Given the description of an element on the screen output the (x, y) to click on. 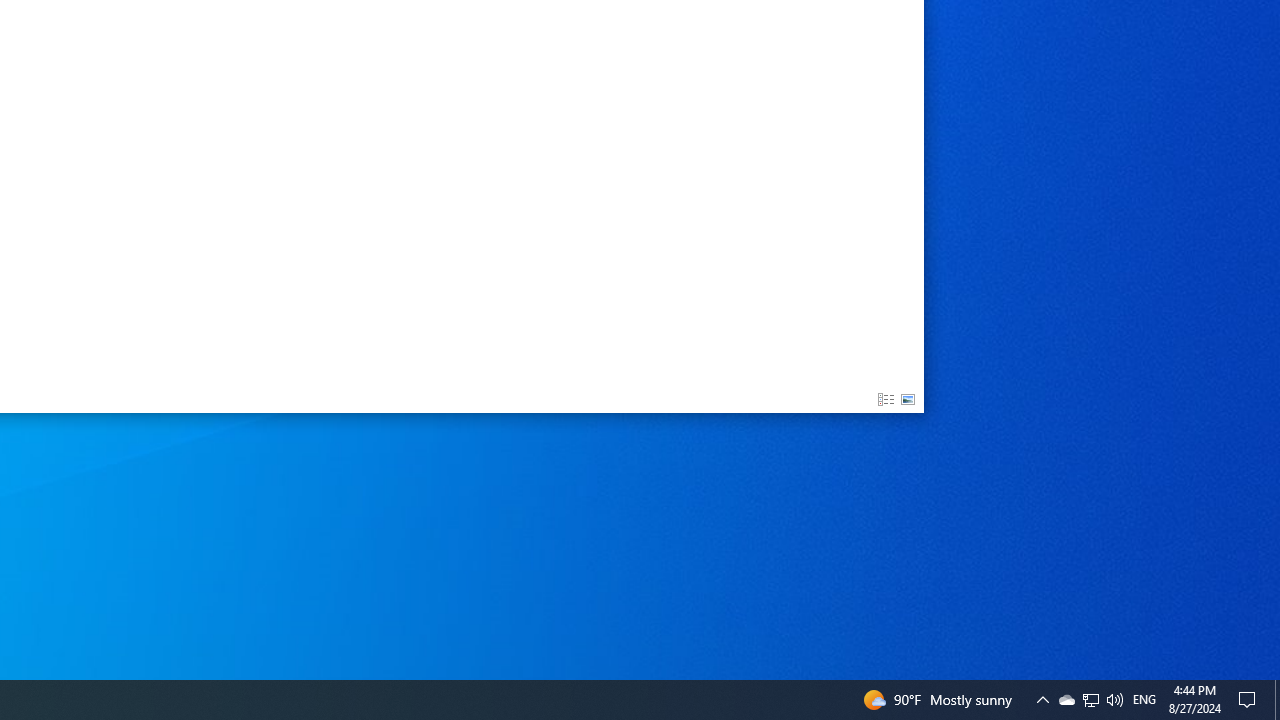
Details (886, 399)
Large Icons (908, 399)
